Given the description of an element on the screen output the (x, y) to click on. 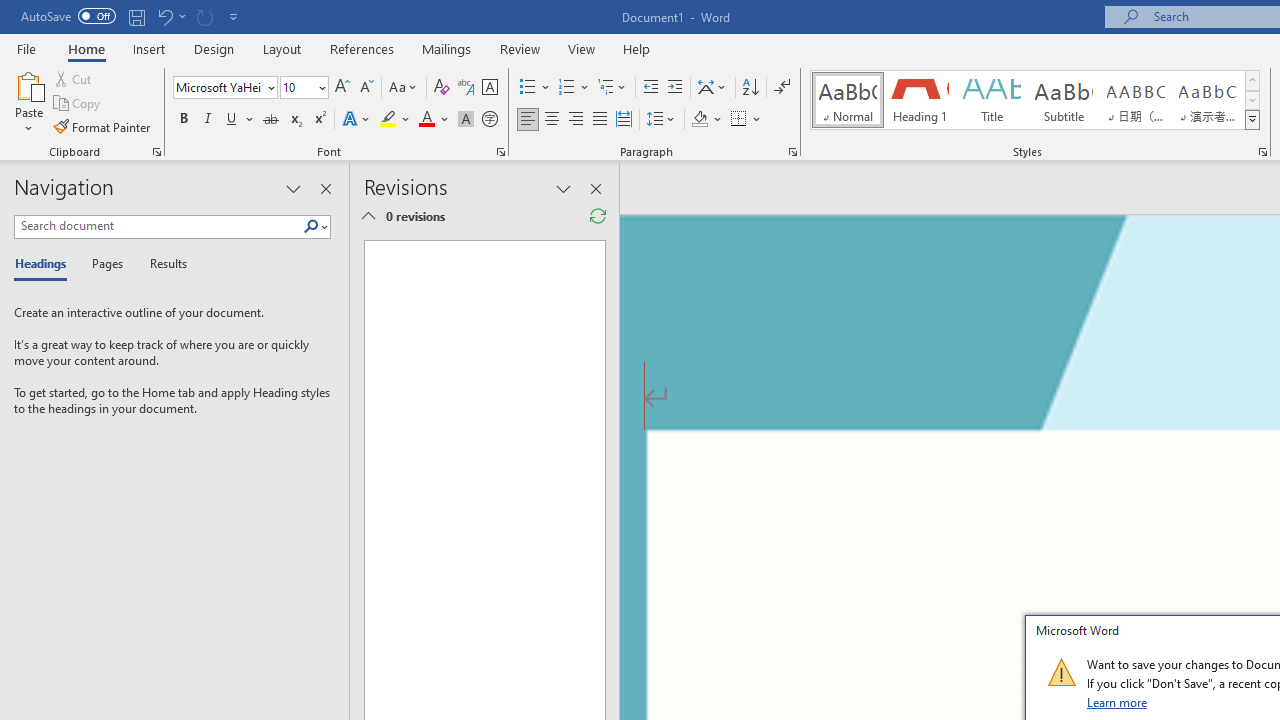
Grow Font (342, 87)
Layout (282, 48)
Close pane (325, 188)
Copy (78, 103)
Font (224, 87)
Results (161, 264)
Superscript (319, 119)
Bullets (535, 87)
Align Left (527, 119)
Headings (45, 264)
Refresh Reviewing Pane (597, 215)
Font... (500, 151)
AutomationID: QuickStylesGallery (1035, 99)
Help (637, 48)
Character Shading (465, 119)
